Given the description of an element on the screen output the (x, y) to click on. 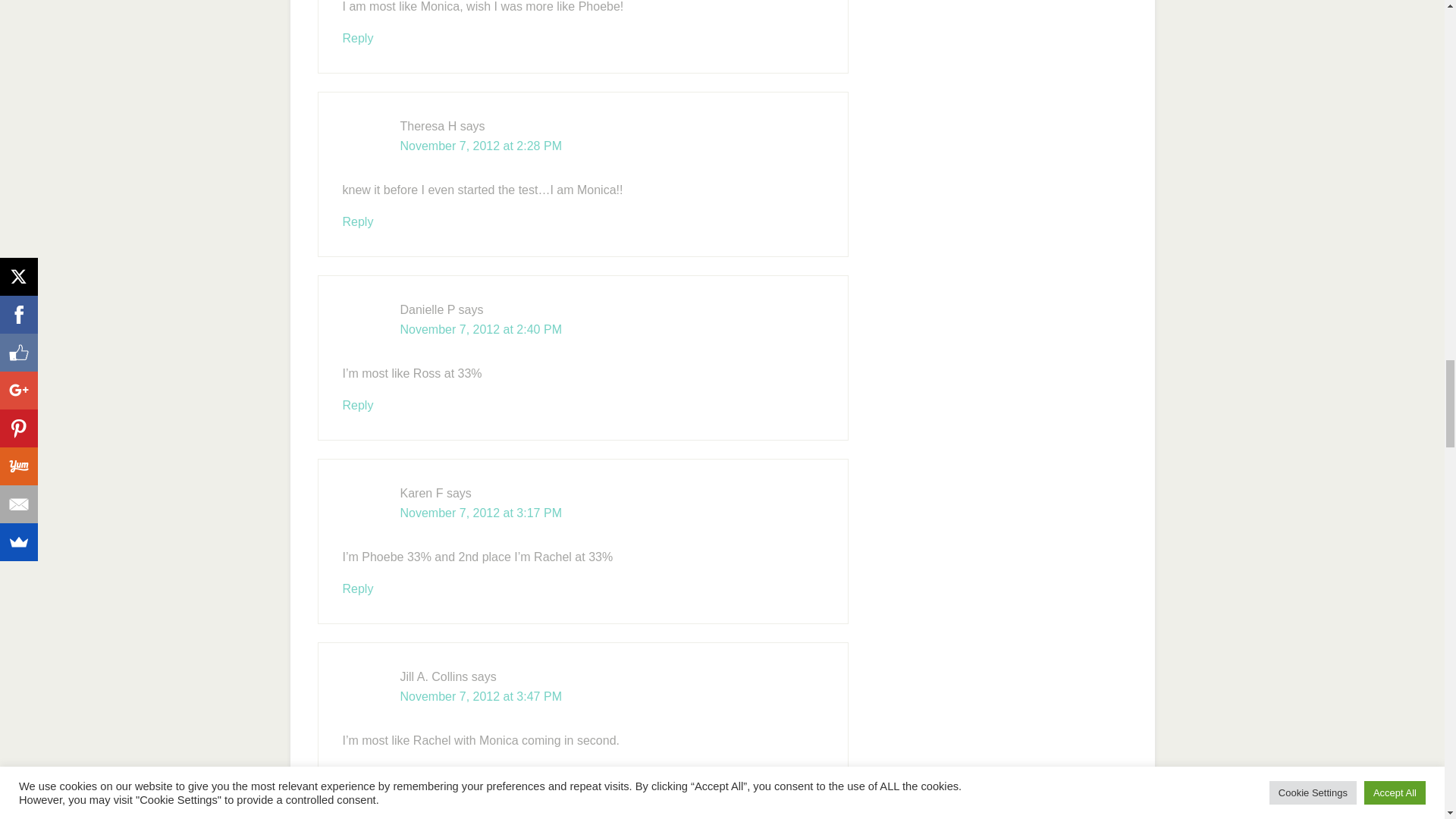
November 7, 2012 at 3:17 PM (481, 512)
Reply (358, 221)
Reply (358, 38)
Reply (358, 404)
November 7, 2012 at 2:40 PM (481, 328)
November 7, 2012 at 2:28 PM (481, 145)
